Given the description of an element on the screen output the (x, y) to click on. 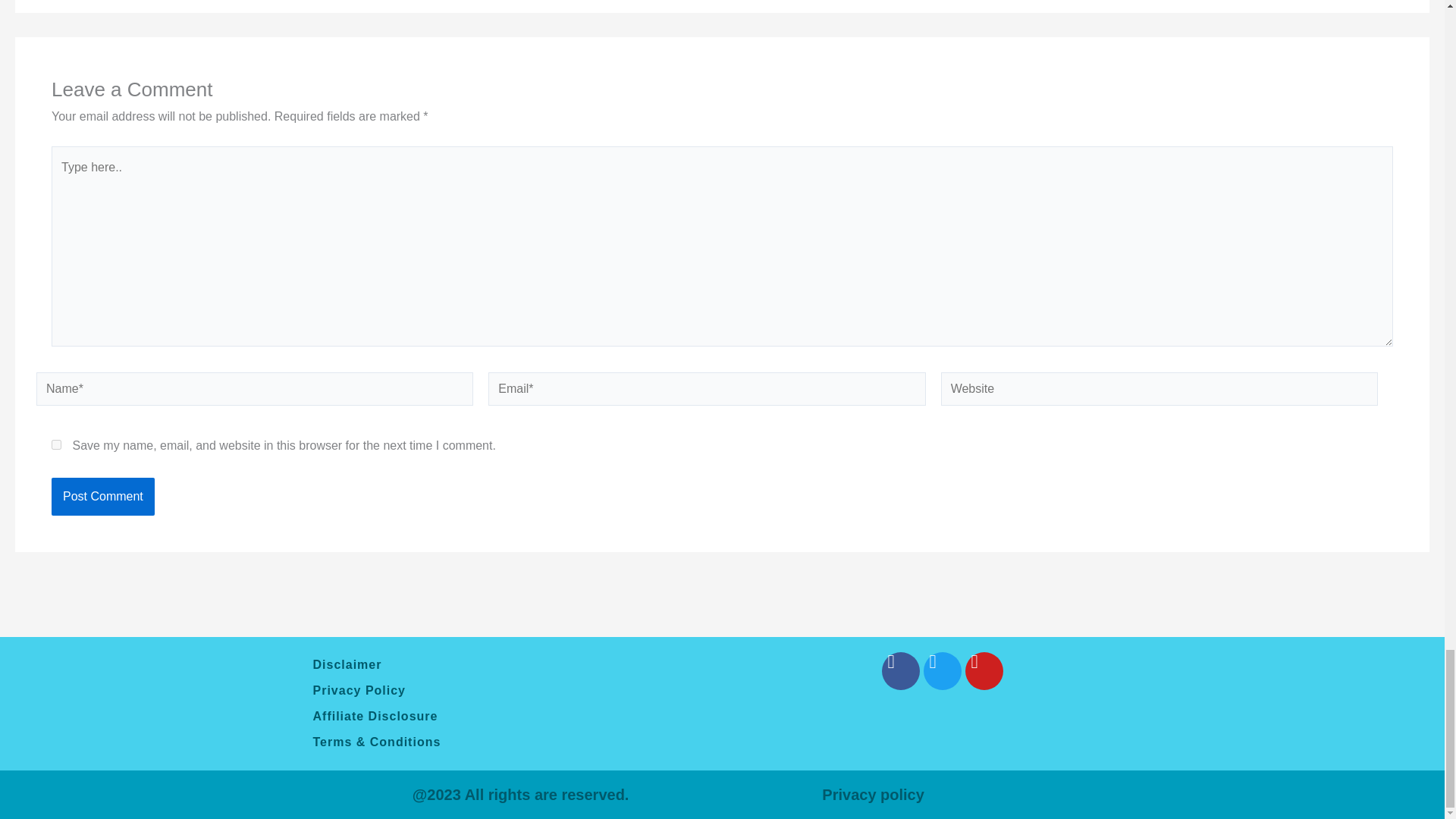
Youtube (983, 670)
Facebook (899, 670)
Twitter (941, 670)
yes (55, 444)
Post Comment (102, 496)
Privacy policy (873, 794)
Affiliate Disclosure (501, 716)
Privacy Policy (501, 690)
Disclaimer (501, 664)
Post Comment (102, 496)
